Given the description of an element on the screen output the (x, y) to click on. 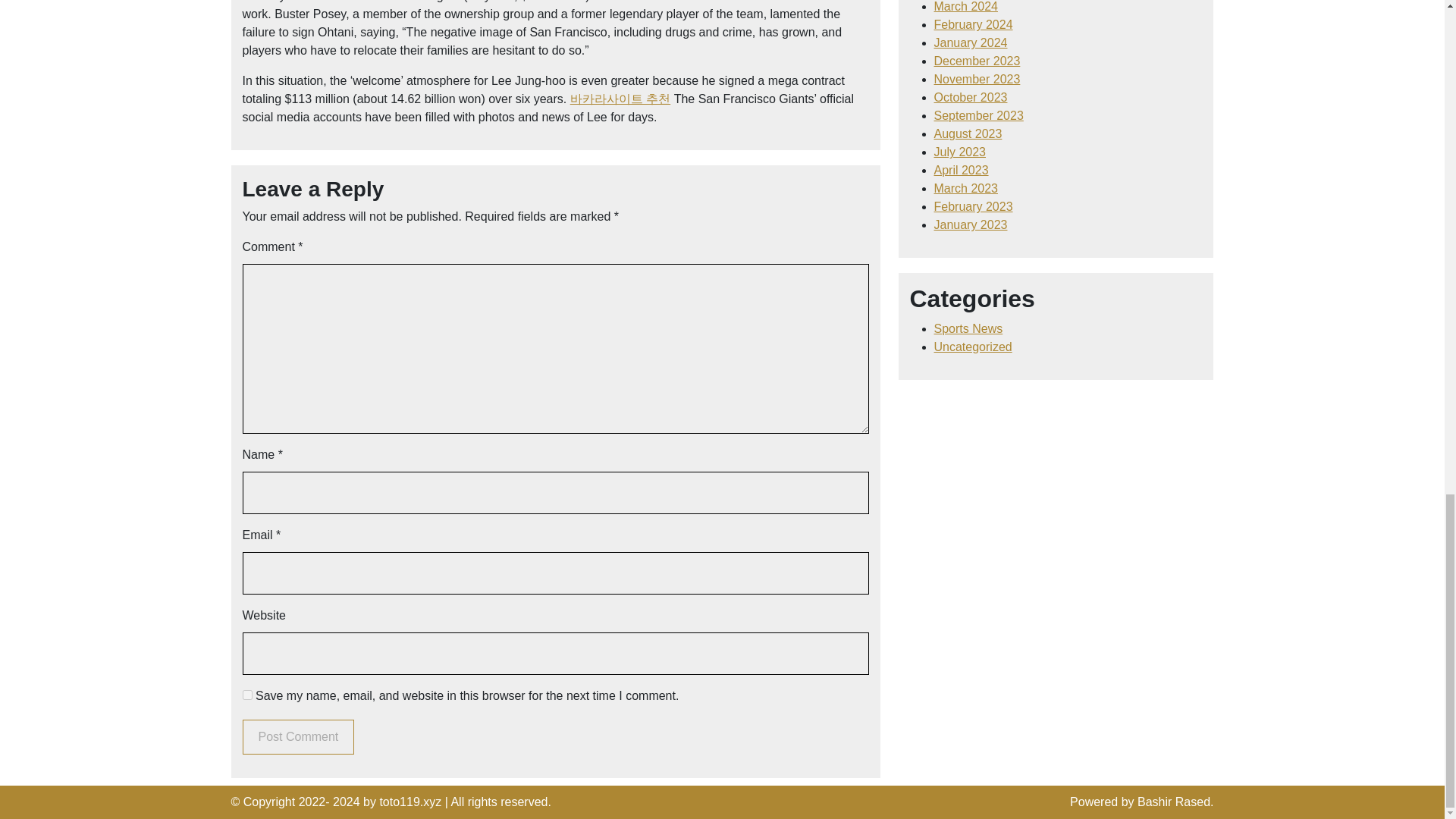
January 2024 (970, 42)
October 2023 (970, 97)
August 2023 (968, 133)
yes (247, 695)
Post Comment (299, 736)
November 2023 (977, 78)
December 2023 (977, 60)
July 2023 (960, 151)
September 2023 (978, 115)
March 2024 (966, 6)
February 2024 (973, 24)
Post Comment (299, 736)
